Given the description of an element on the screen output the (x, y) to click on. 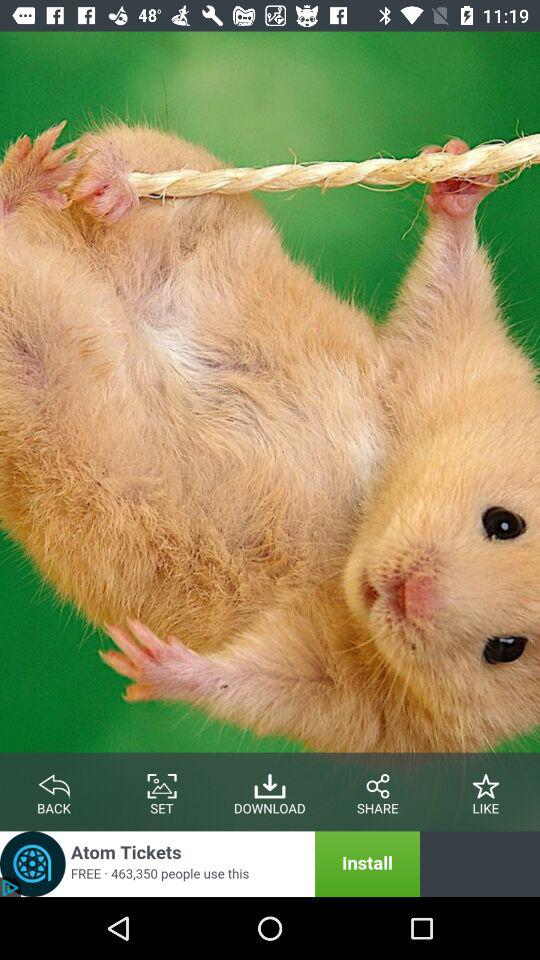
open (210, 864)
